Given the description of an element on the screen output the (x, y) to click on. 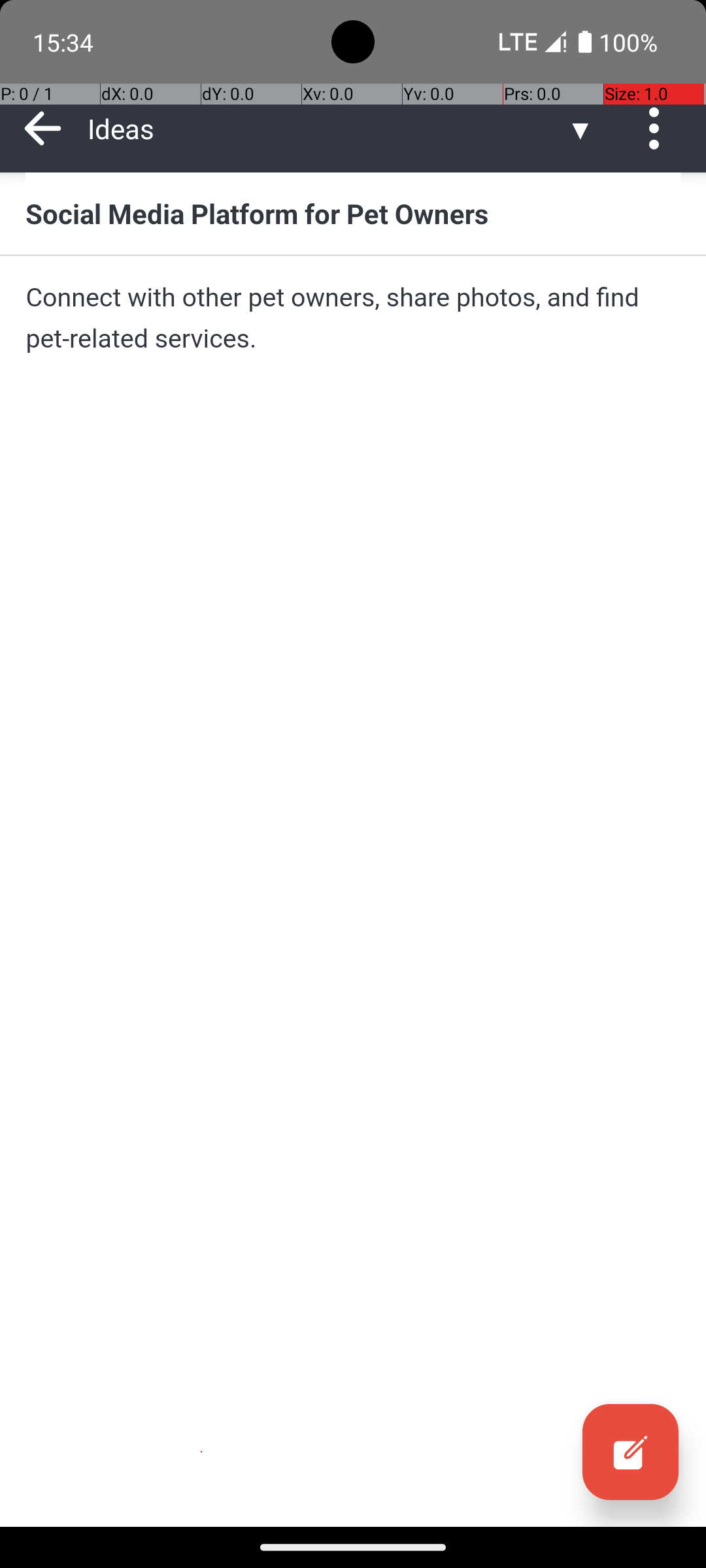
Connect with other pet owners, share photos, and find pet-related services. Element type: android.widget.TextView (352, 317)
